Given the description of an element on the screen output the (x, y) to click on. 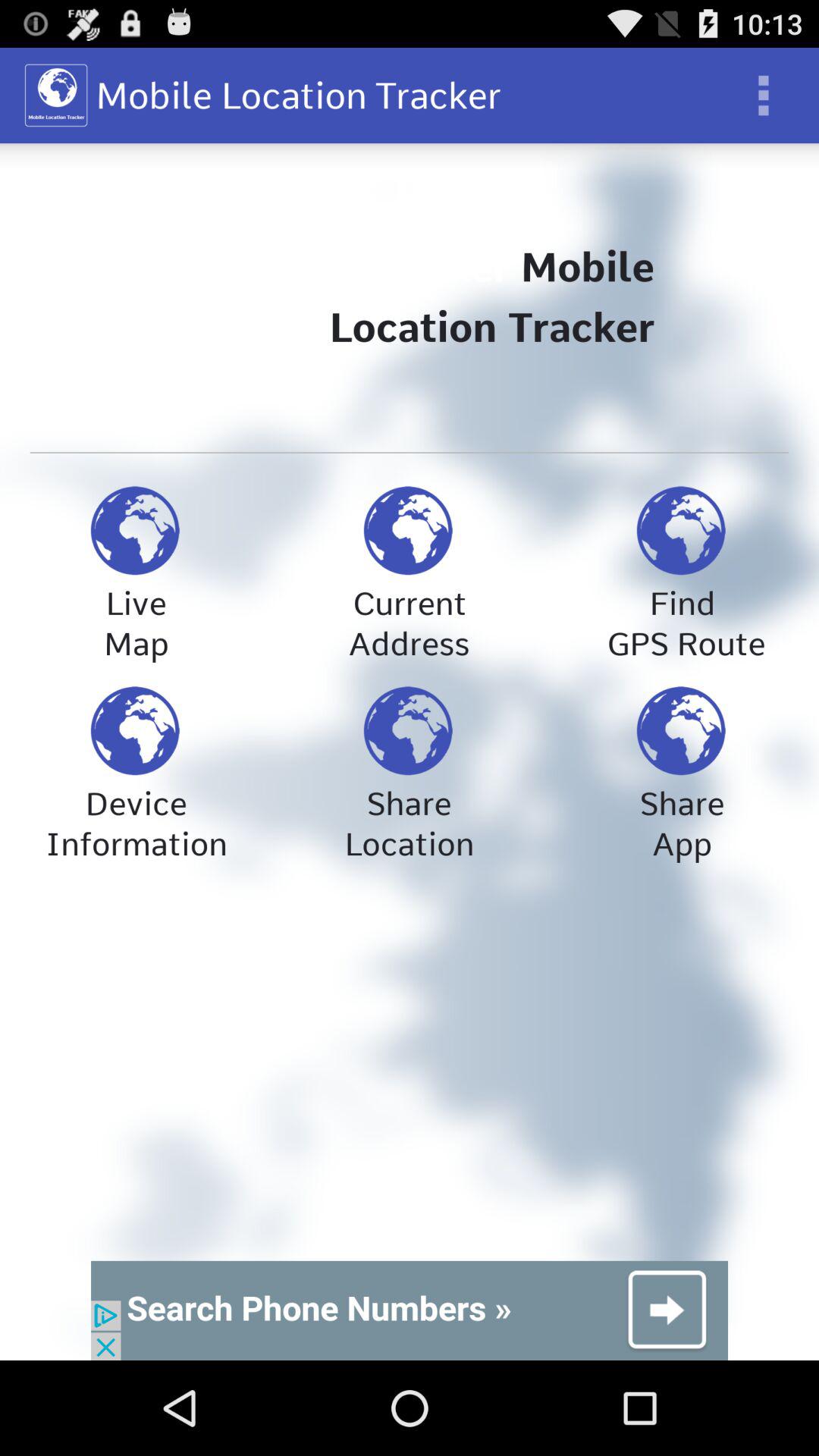
search phone number advertisements (409, 1310)
